Given the description of an element on the screen output the (x, y) to click on. 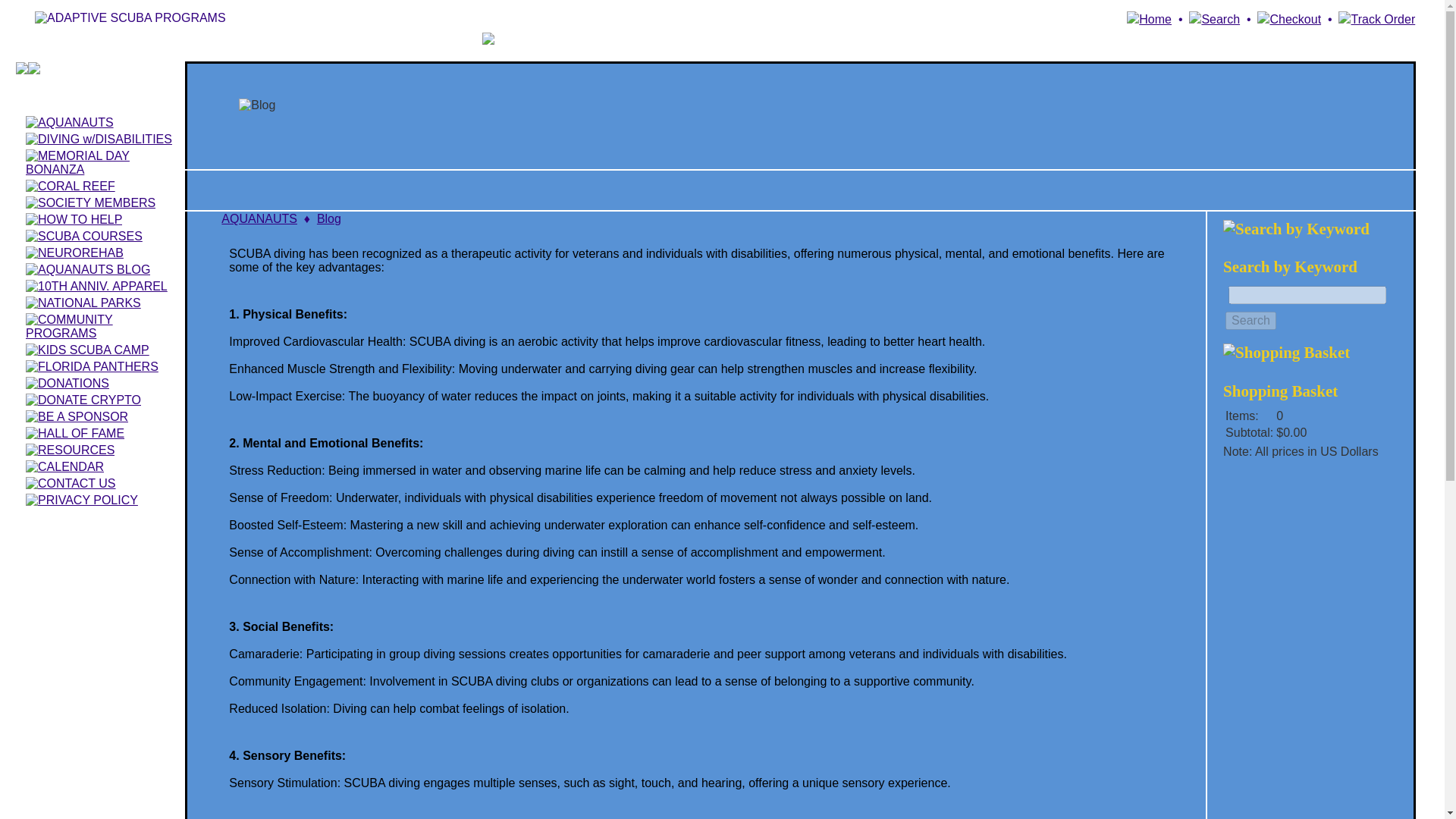
Search (1214, 19)
Track Order (1376, 19)
AQUANAUTS (259, 218)
Checkout (1288, 19)
Home (1149, 19)
Blog (328, 218)
